Given the description of an element on the screen output the (x, y) to click on. 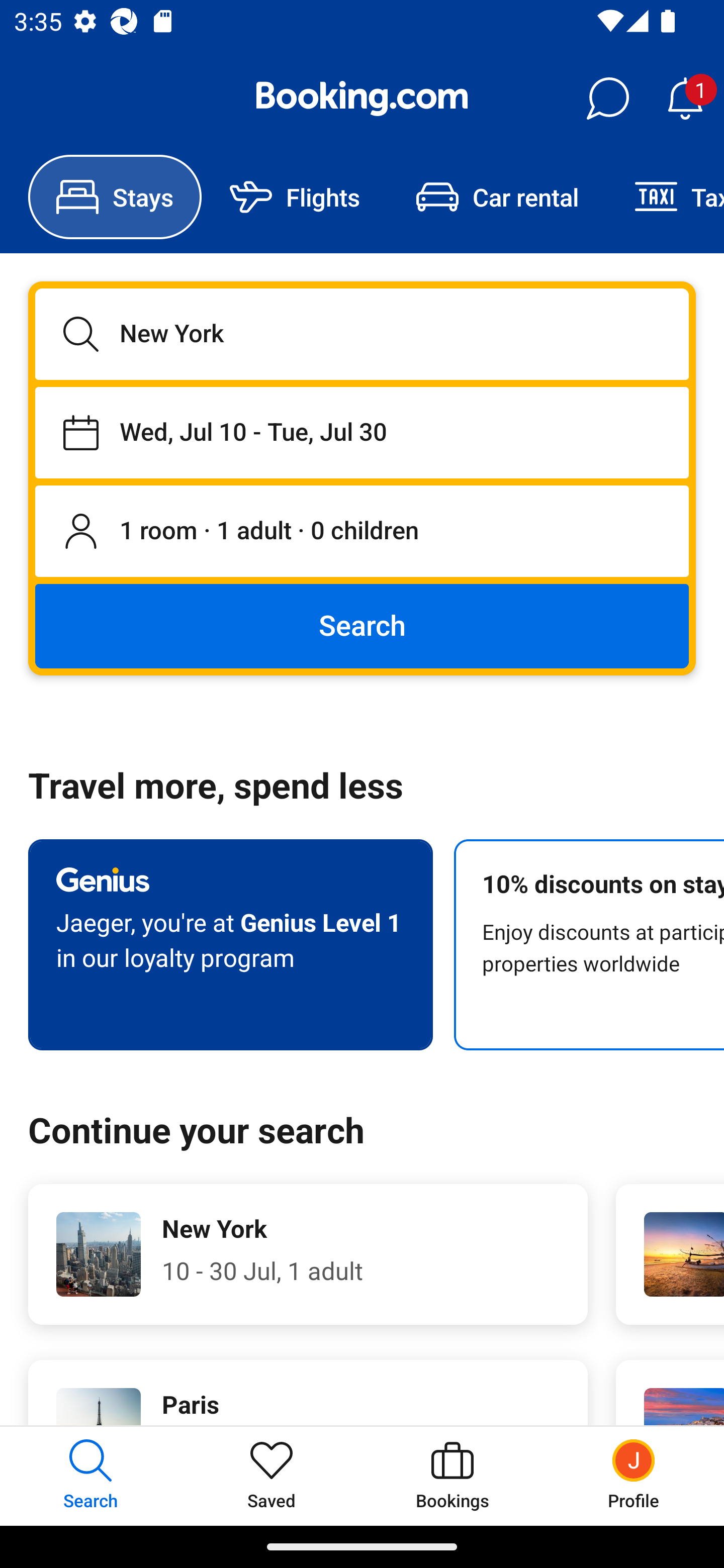
Messages (607, 98)
Notifications (685, 98)
Stays (114, 197)
Flights (294, 197)
Car rental (497, 197)
Taxi (665, 197)
New York (361, 333)
Staying from Wed, Jul 10 until Tue, Jul 30 (361, 432)
1 room, 1 adult, 0 children (361, 531)
Search (361, 625)
New York 10 - 30 Jul, 1 adult (307, 1253)
Saved (271, 1475)
Bookings (452, 1475)
Profile (633, 1475)
